Given the description of an element on the screen output the (x, y) to click on. 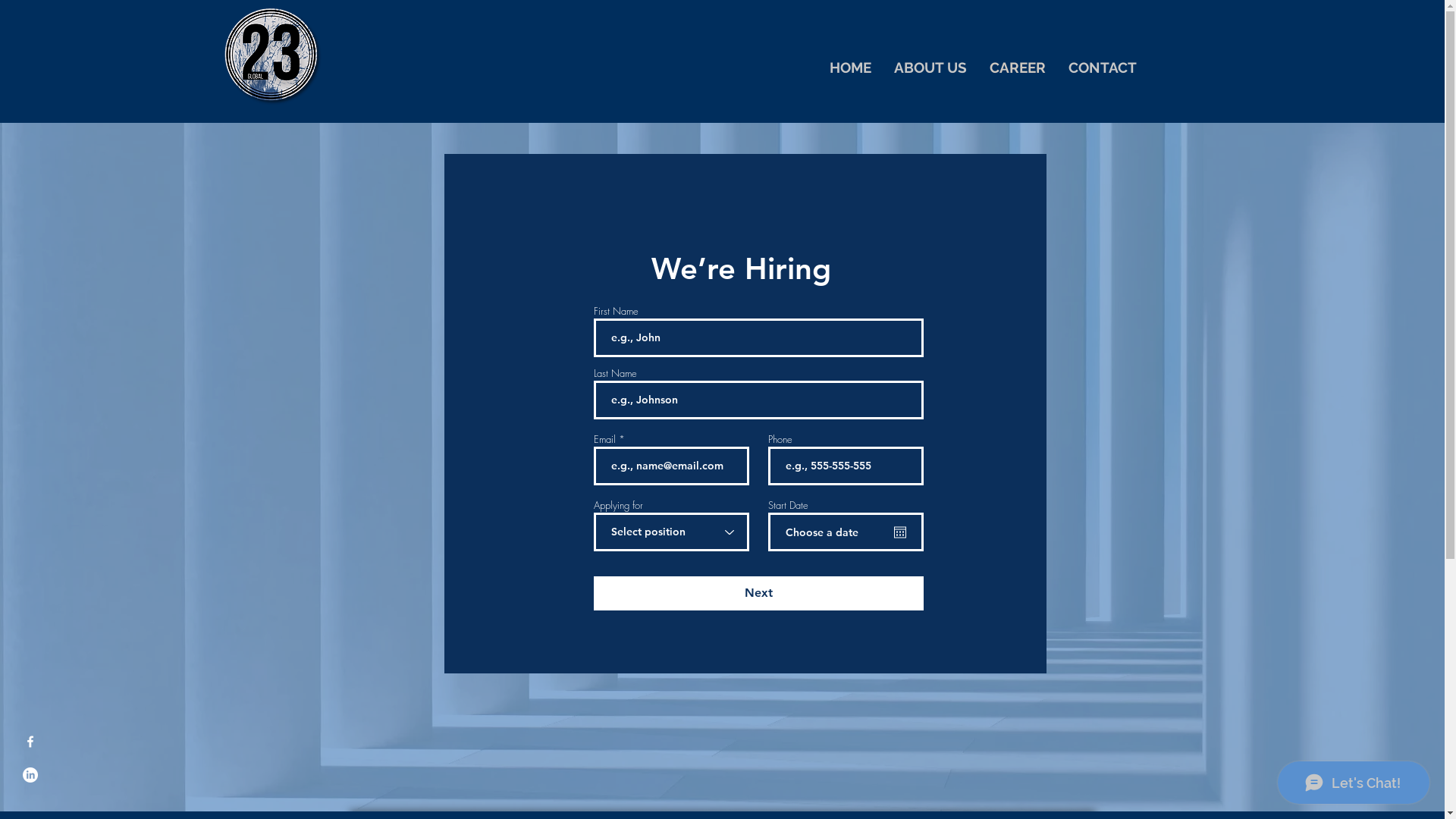
ABOUT US Element type: text (930, 67)
CAREER Element type: text (1017, 67)
CONTACT Element type: text (1102, 67)
HOME Element type: text (849, 67)
Next Element type: text (757, 593)
